Given the description of an element on the screen output the (x, y) to click on. 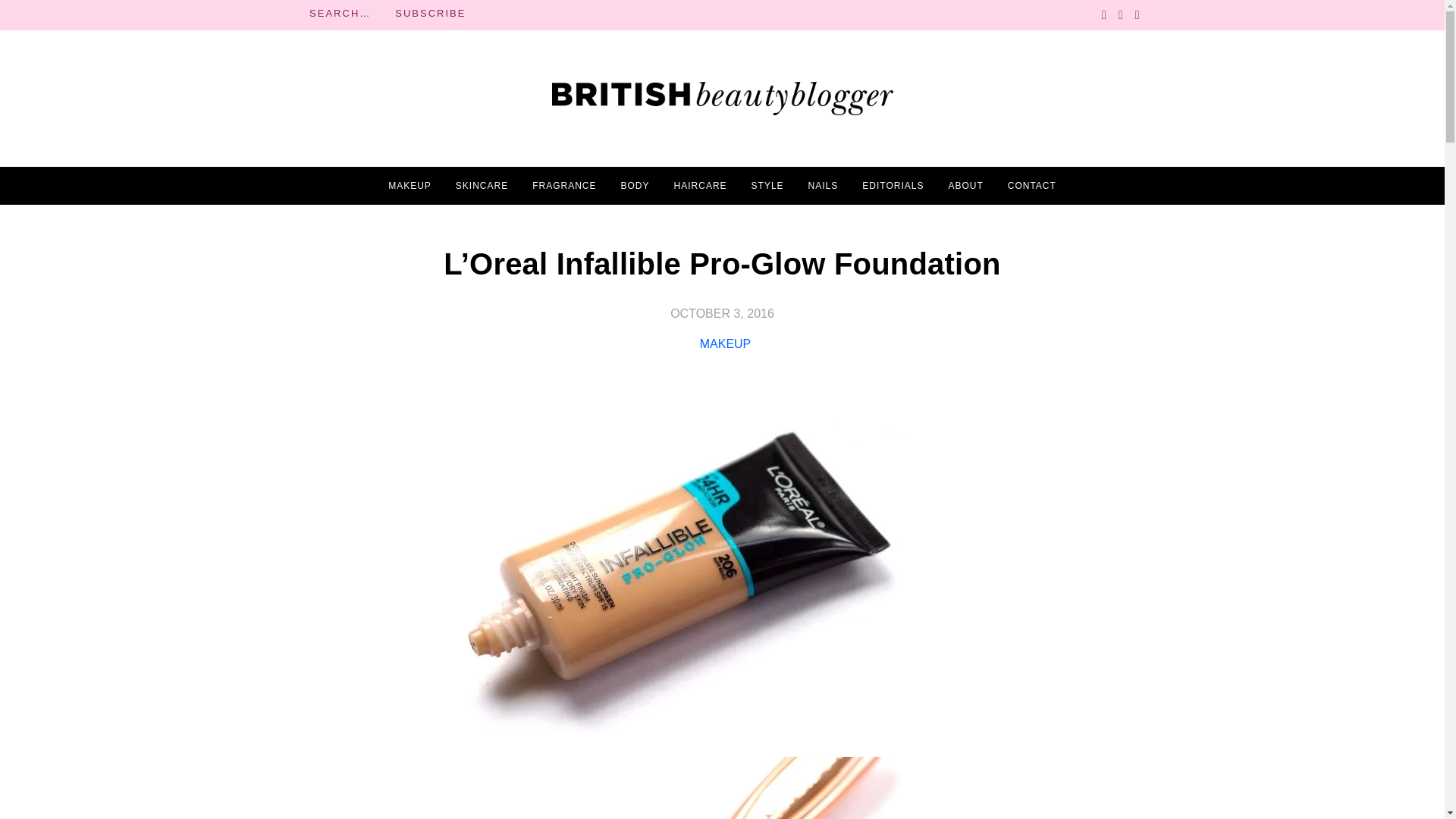
MAKEUP (409, 185)
HAIRCARE (700, 185)
SKINCARE (481, 185)
SUBSCRIBE (429, 13)
FRAGRANCE (563, 185)
MAKEUP (725, 343)
EDITORIALS (892, 185)
CONTACT (1032, 185)
ABOUT (964, 185)
